Given the description of an element on the screen output the (x, y) to click on. 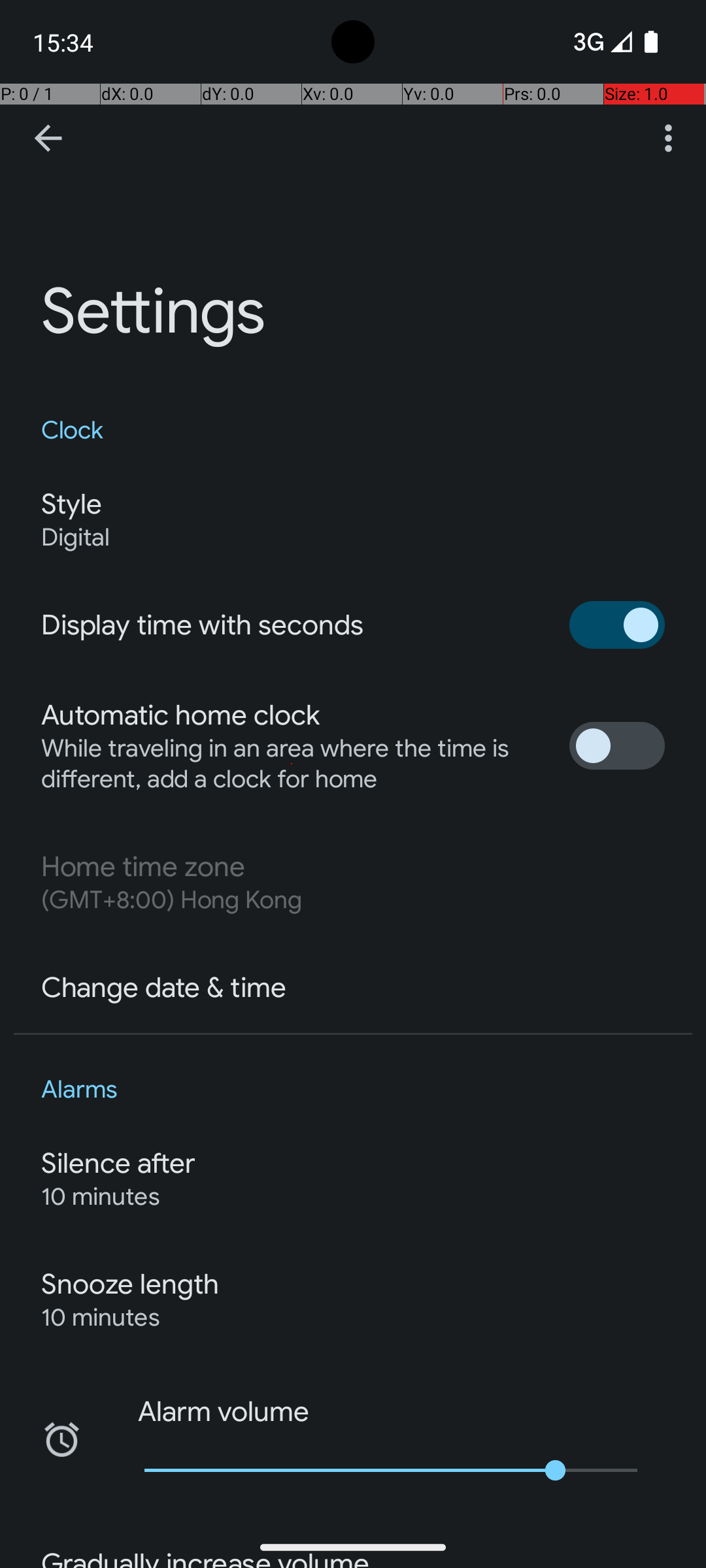
Style Element type: android.widget.TextView (71, 504)
Digital Element type: android.widget.TextView (75, 537)
Display time with seconds Element type: android.widget.TextView (202, 624)
Automatic home clock Element type: android.widget.TextView (180, 715)
While traveling in an area where the time is different, add a clock for home Element type: android.widget.TextView (291, 763)
Home time zone Element type: android.widget.TextView (143, 866)
(GMT+8:00) Hong Kong Element type: android.widget.TextView (171, 899)
Change date & time Element type: android.widget.TextView (163, 987)
Alarms Element type: android.widget.TextView (352, 1089)
Silence after Element type: android.widget.TextView (118, 1163)
10 minutes Element type: android.widget.TextView (100, 1196)
Snooze length Element type: android.widget.TextView (129, 1284)
Gradually increase volume Element type: android.widget.TextView (205, 1557)
